Given the description of an element on the screen output the (x, y) to click on. 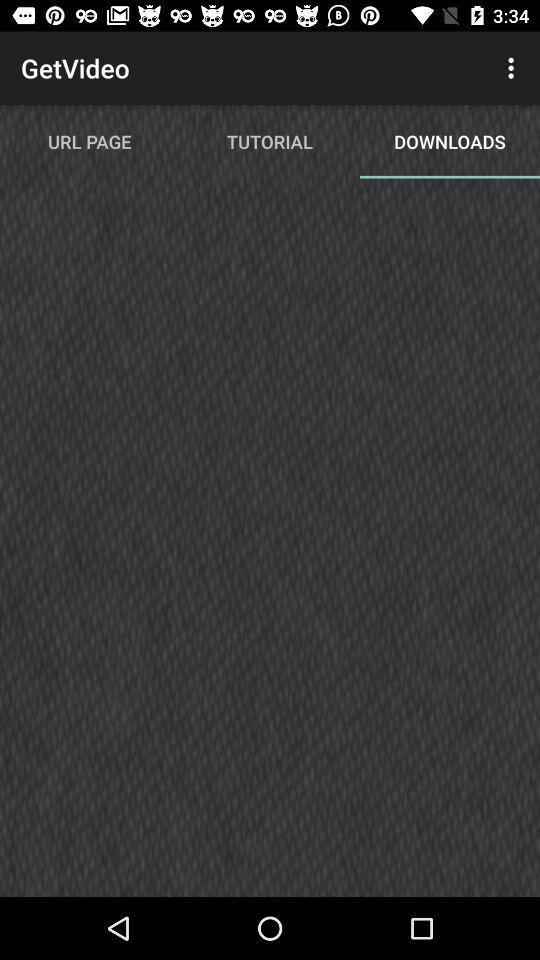
turn on the item below url page (270, 546)
